Given the description of an element on the screen output the (x, y) to click on. 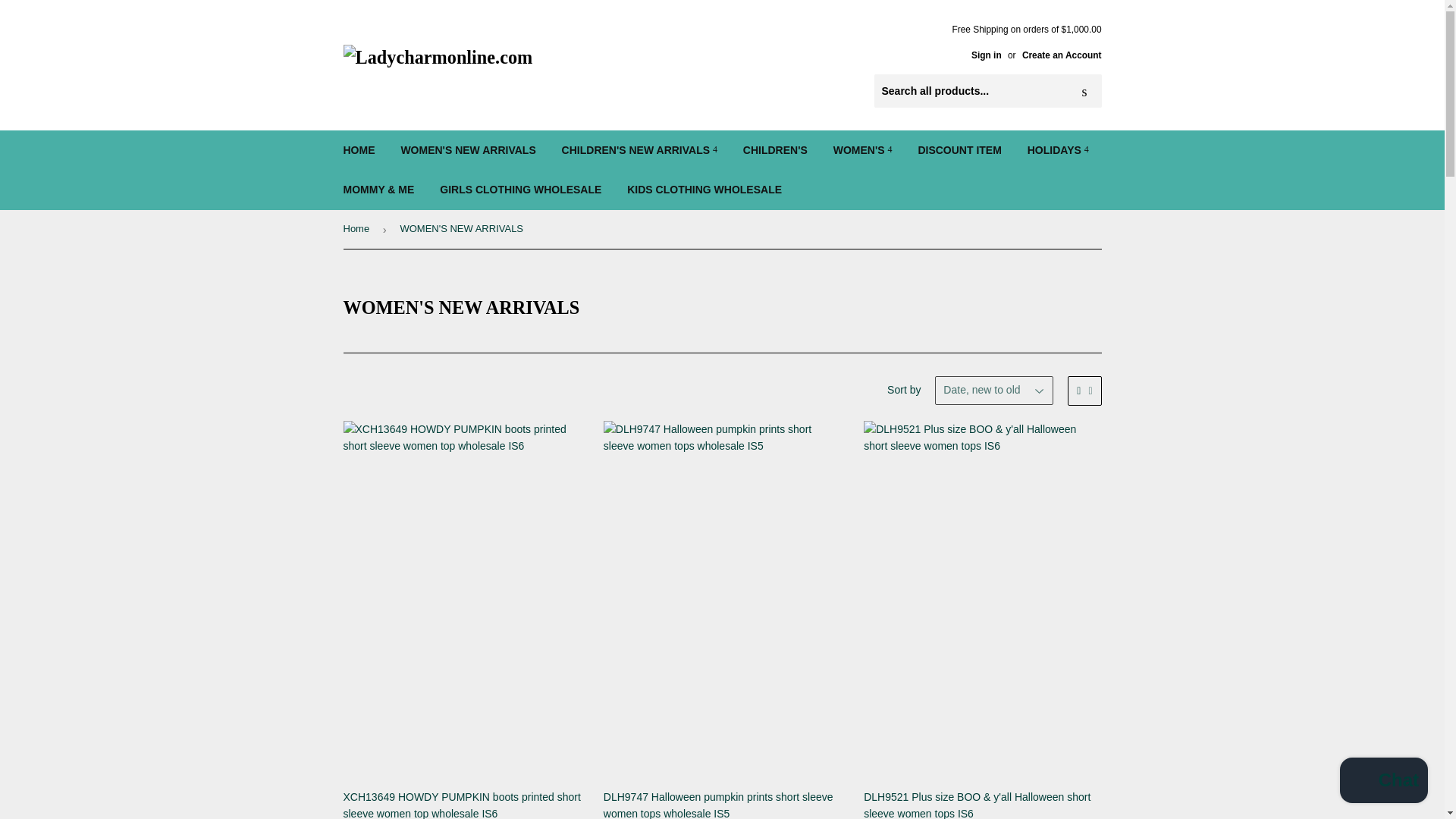
Create an Account (1062, 54)
Search (1084, 91)
Shopify online store chat (1383, 781)
Sign in (986, 54)
